Given the description of an element on the screen output the (x, y) to click on. 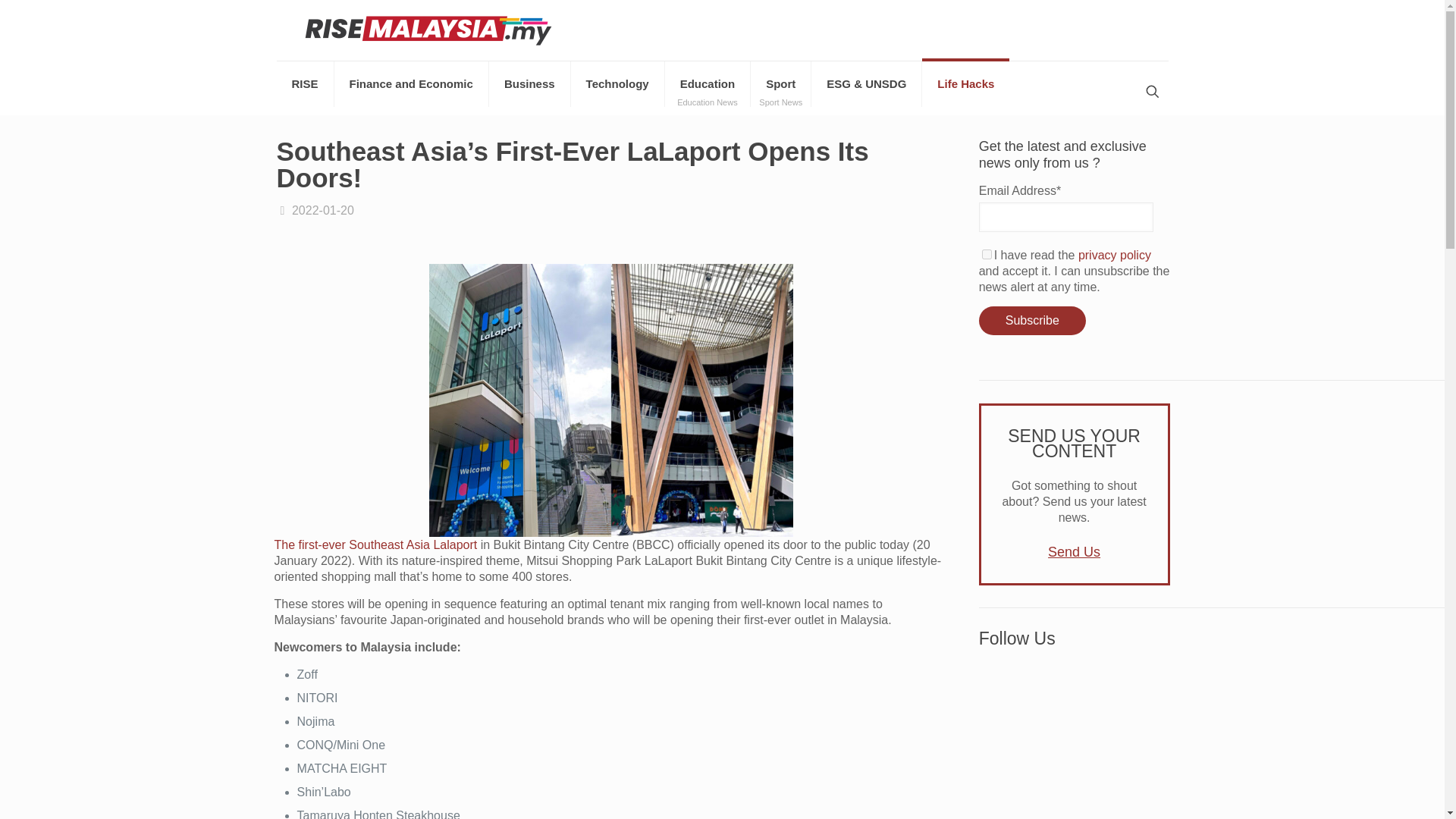
YouTube video player (1074, 738)
Finance and Economic (411, 84)
on (986, 254)
Technology (617, 84)
Life Hacks (965, 84)
Business (529, 84)
The first-ever Southeast Asia Lalaport (377, 544)
Subscribe (780, 84)
RISE (1032, 320)
